Given the description of an element on the screen output the (x, y) to click on. 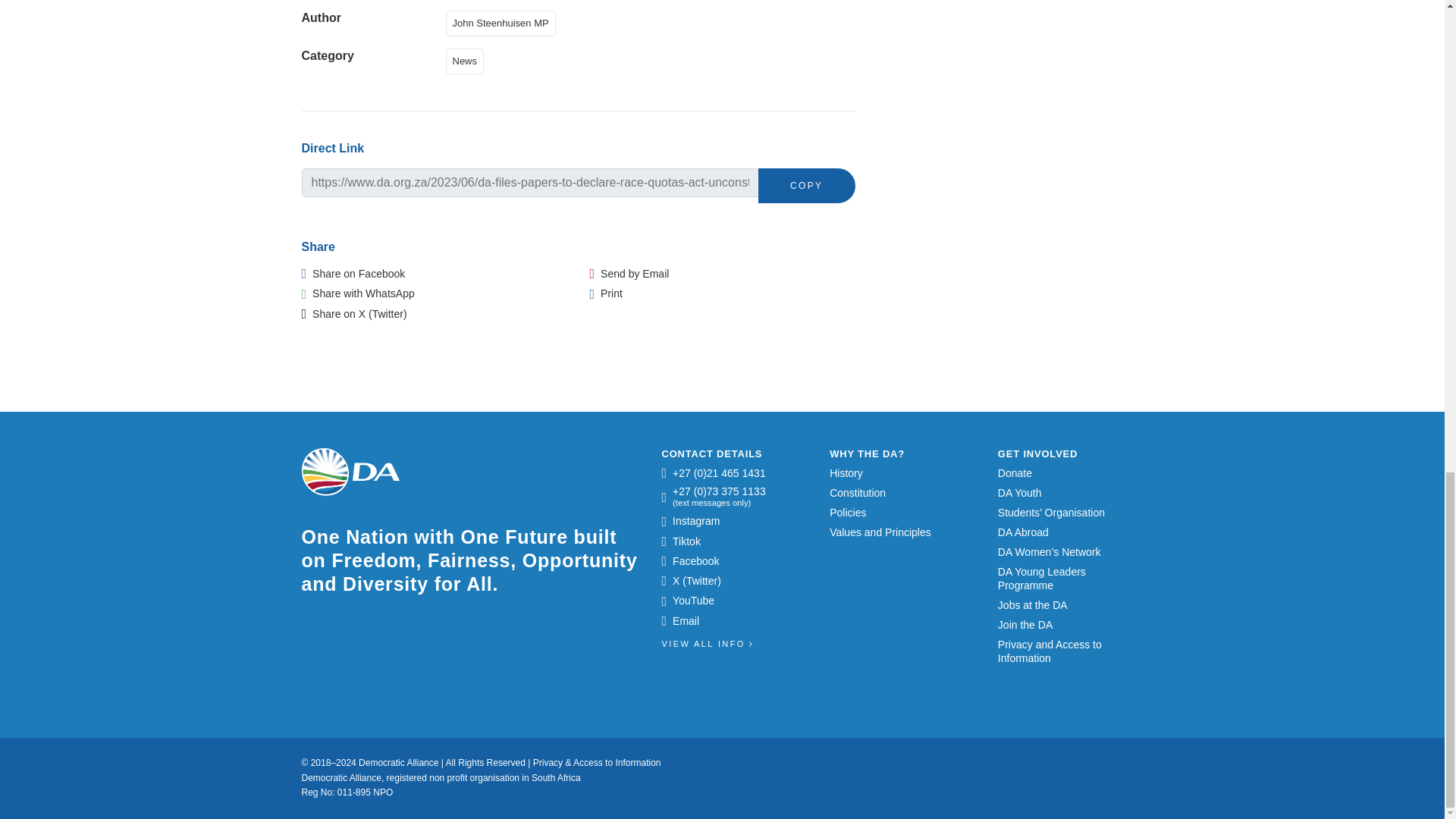
COPY (807, 185)
News (467, 60)
Democratic Alliance Logo (350, 471)
Share on Facebook (353, 273)
Send by Email (629, 273)
Share with WhatsApp (357, 293)
